Given the description of an element on the screen output the (x, y) to click on. 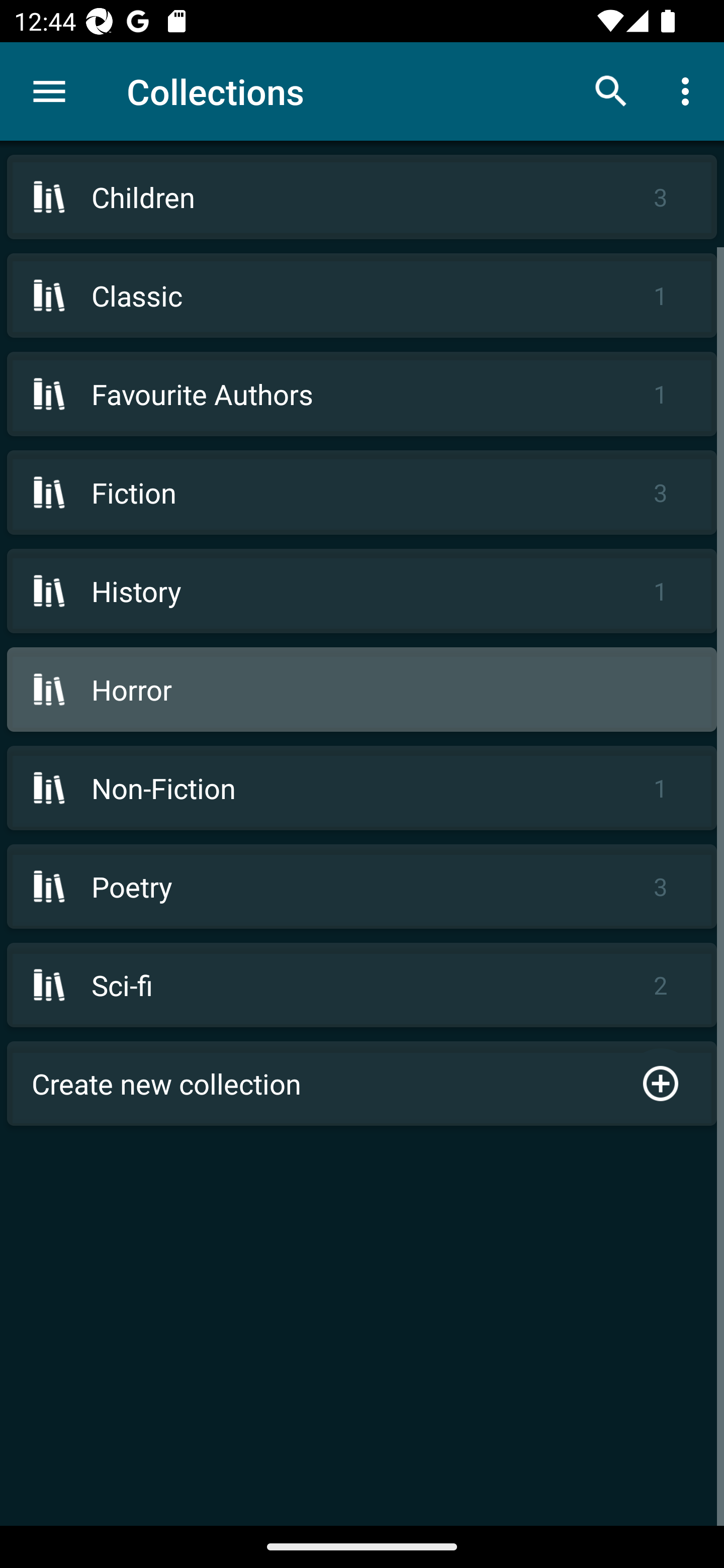
Menu (49, 91)
Search books & documents (611, 90)
More options (688, 90)
Children 3 (361, 197)
Classic 1 (361, 295)
Favourite Authors 1 (361, 393)
Fiction 3 (361, 492)
History 1 (361, 590)
Horror (361, 689)
Non-Fiction 1 (361, 787)
Poetry 3 (361, 885)
Sci-fi 2 (361, 984)
Create new collection (361, 1083)
